Given the description of an element on the screen output the (x, y) to click on. 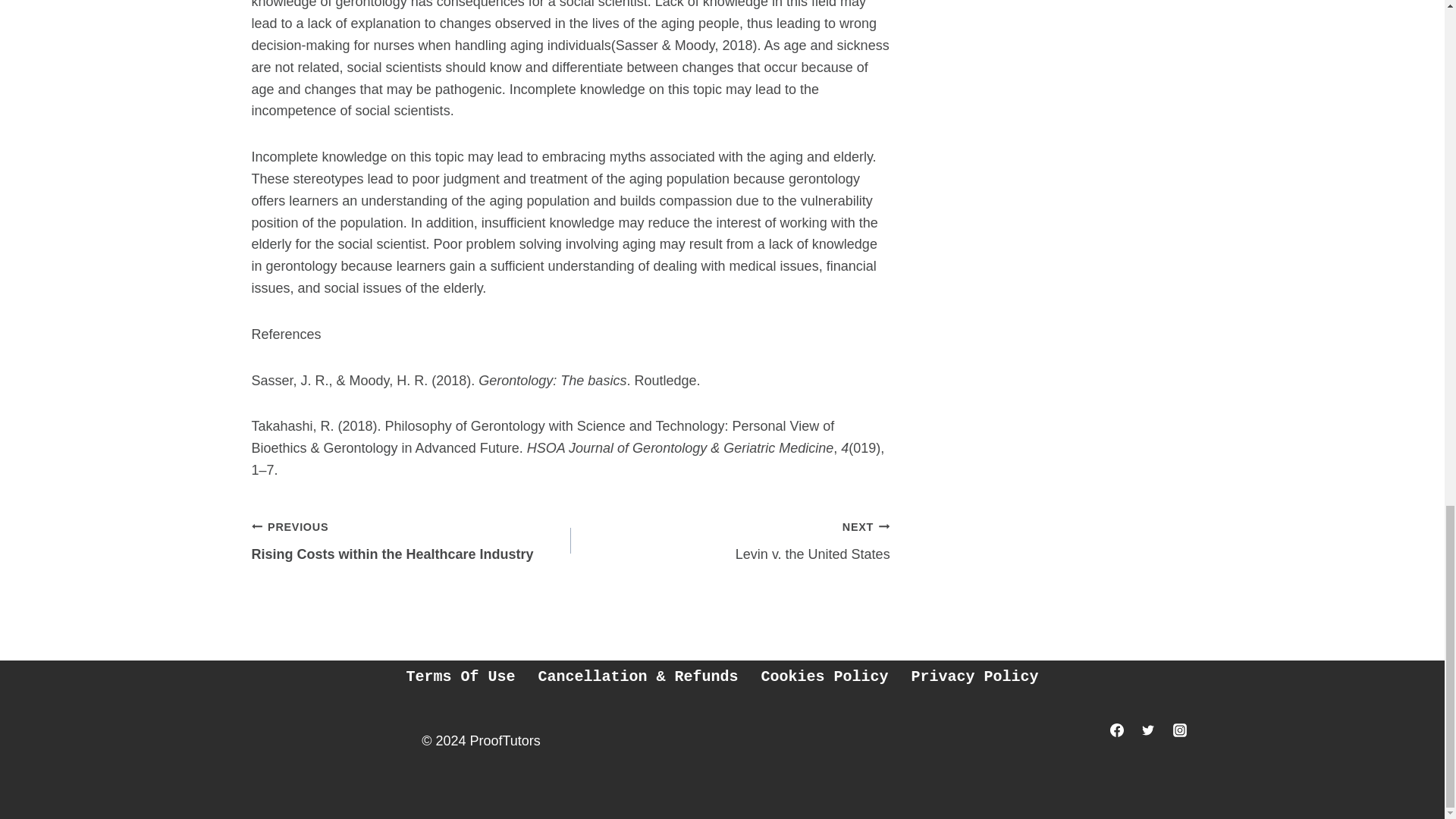
Privacy Policy (729, 540)
Cookies Policy (974, 676)
Terms Of Use (410, 540)
